Given the description of an element on the screen output the (x, y) to click on. 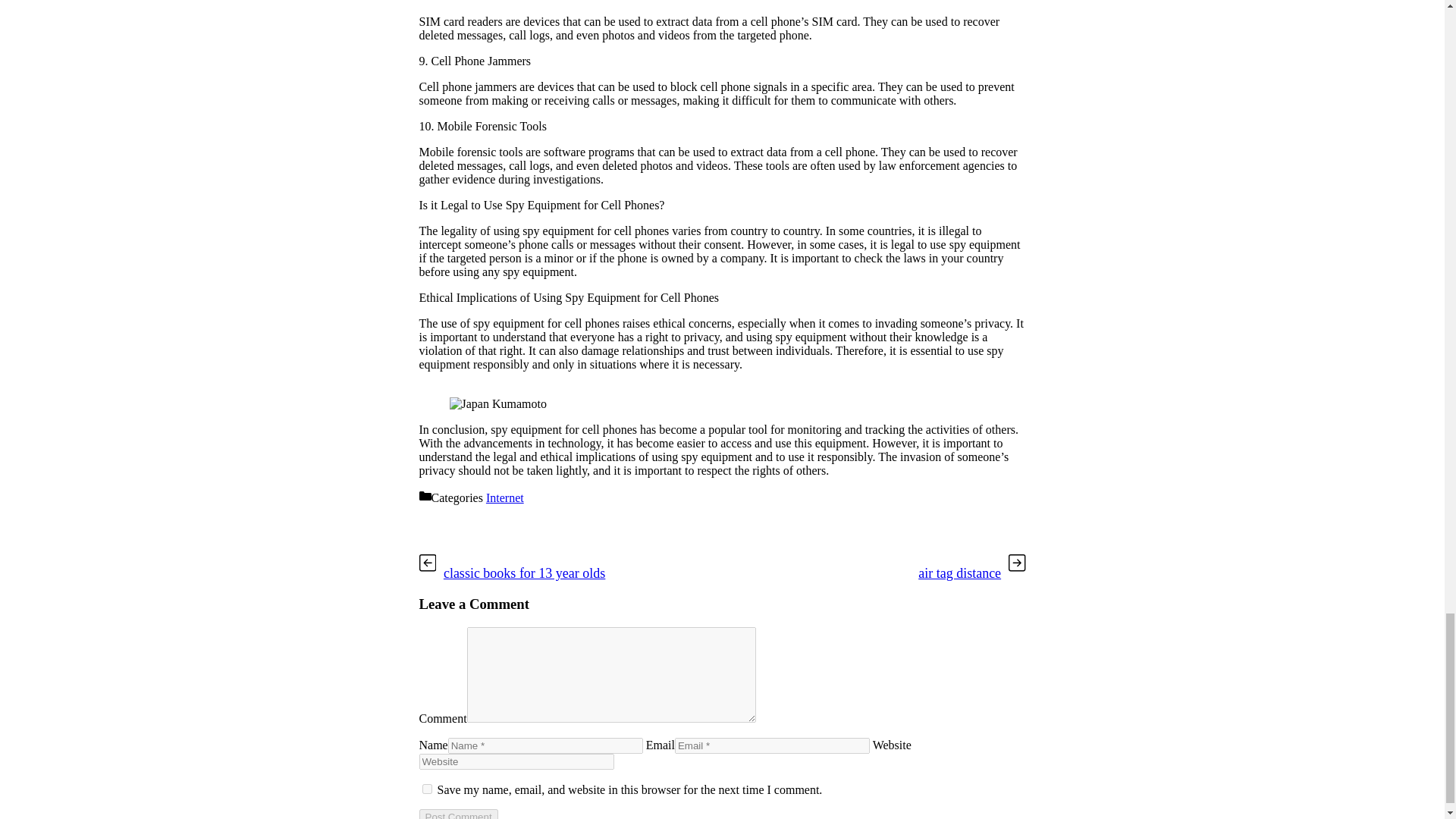
air tag distance (959, 572)
Internet (505, 497)
classic books for 13 year olds (524, 572)
yes (426, 788)
Japan Kumamoto (497, 404)
